Given the description of an element on the screen output the (x, y) to click on. 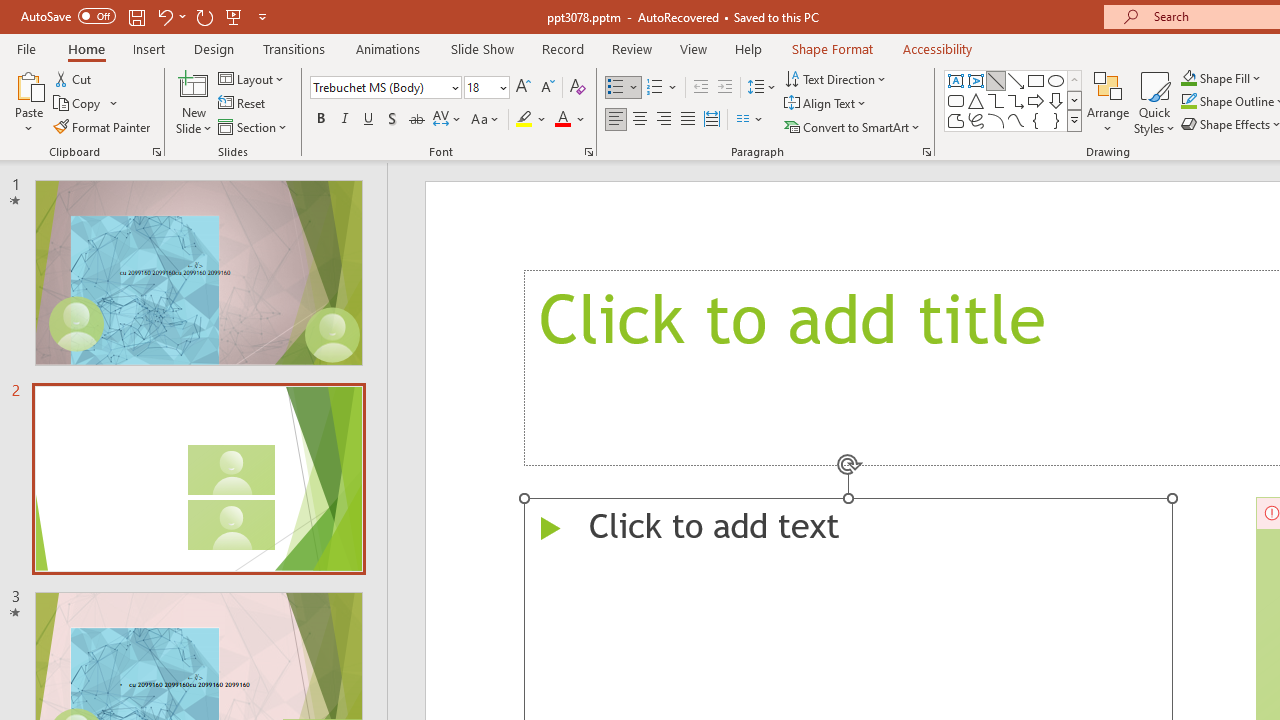
Freeform: Scribble (975, 120)
Character Spacing (447, 119)
Text Box (955, 80)
Font Color Red (562, 119)
Arc (995, 120)
Decrease Indent (700, 87)
Curve (1016, 120)
Font... (588, 151)
Connector: Elbow (995, 100)
Isosceles Triangle (975, 100)
Quick Styles (1154, 102)
Shadow (392, 119)
